Given the description of an element on the screen output the (x, y) to click on. 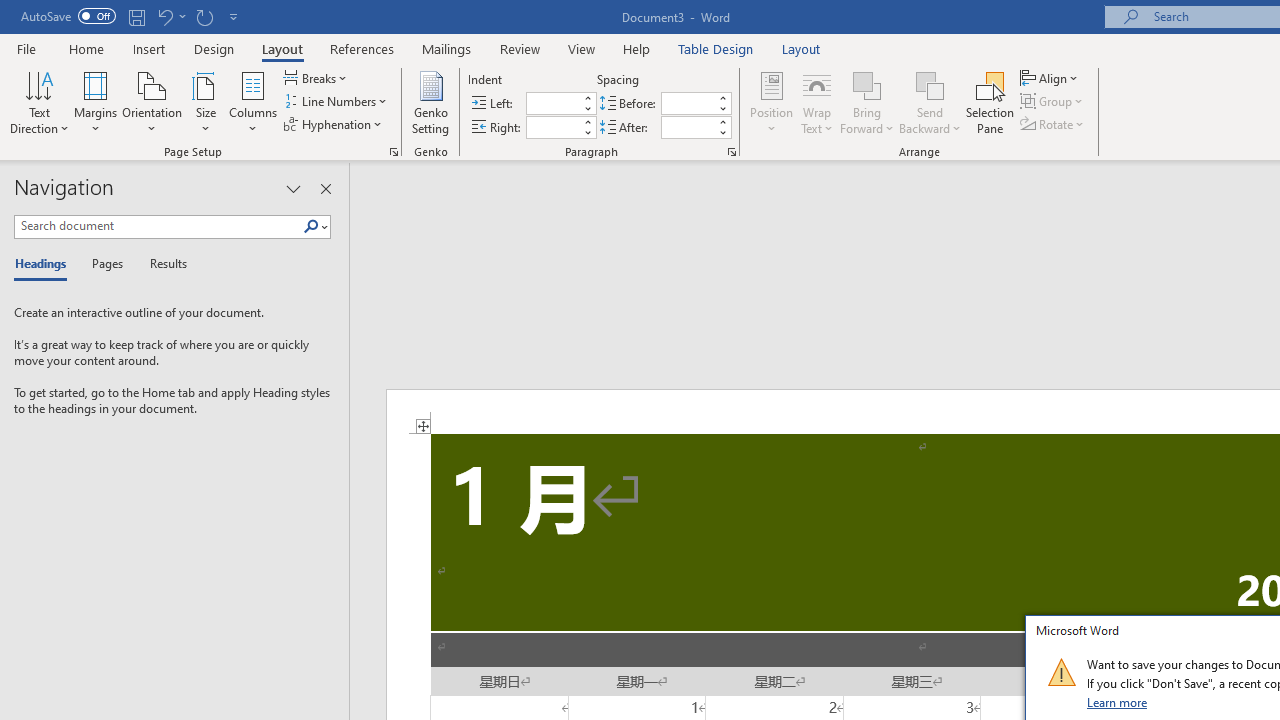
Position (771, 102)
Indent Right (552, 127)
Send Backward (930, 102)
Undo Insert Row Below (164, 15)
Margins (95, 102)
Less (722, 132)
